Given the description of an element on the screen output the (x, y) to click on. 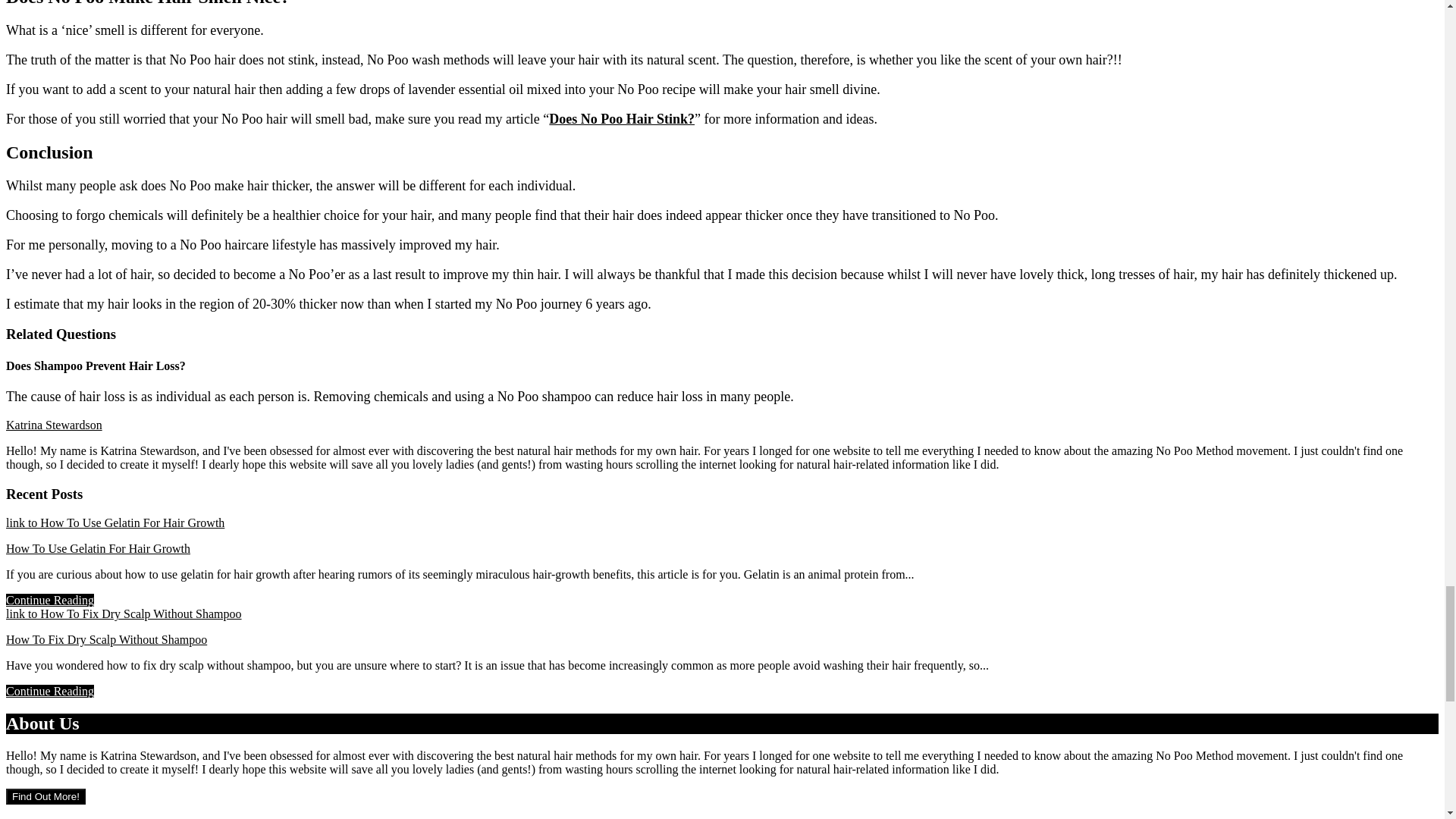
Does No Poo Hair Stink? (621, 118)
How To Use Gelatin For Hair Growth (97, 548)
Find Out More! (45, 796)
Continue Reading (49, 599)
Katrina Stewardson (53, 424)
How To Fix Dry Scalp Without Shampoo (105, 639)
Continue Reading (49, 690)
